Given the description of an element on the screen output the (x, y) to click on. 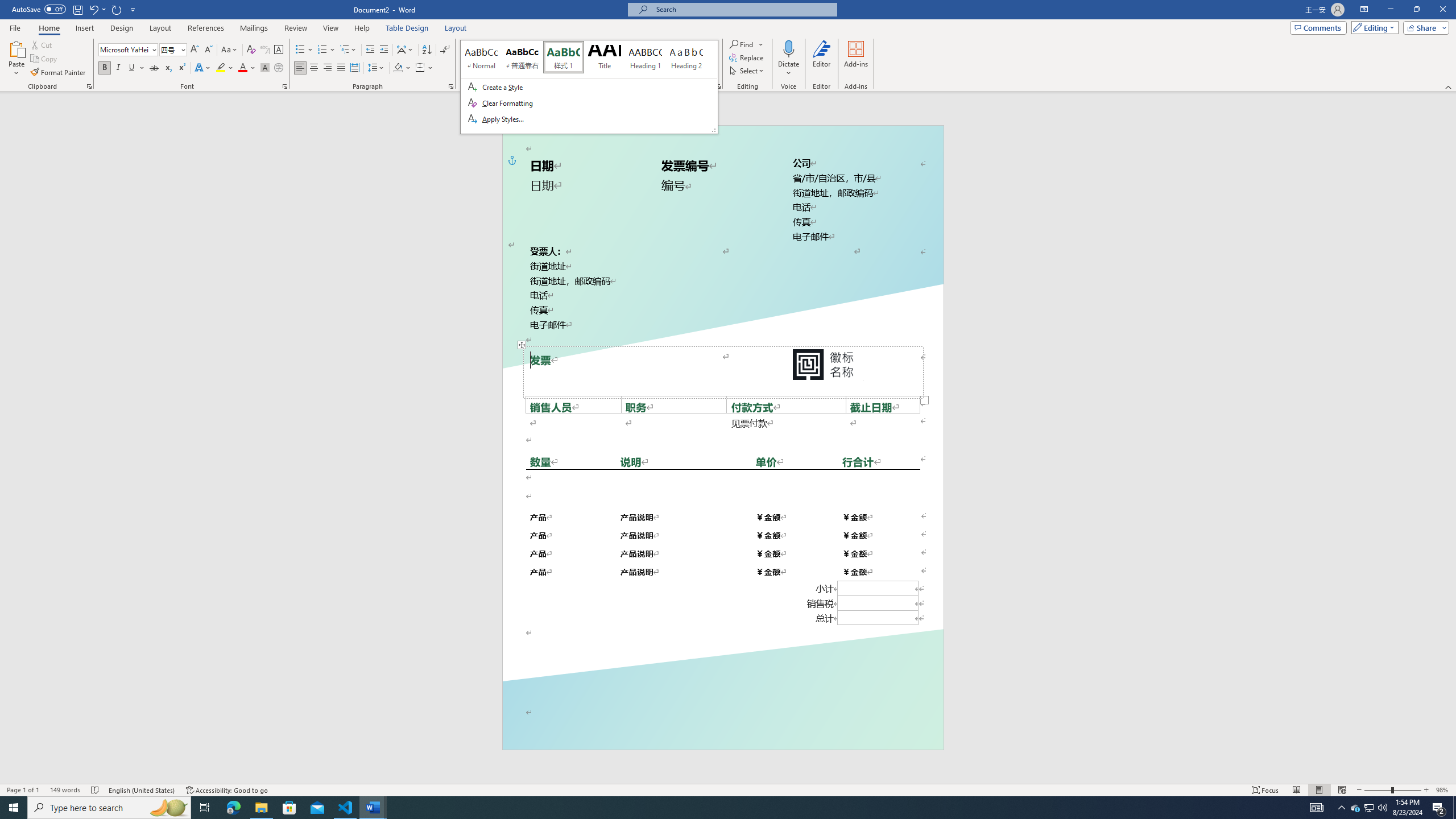
Repeat Style (117, 9)
